Given the description of an element on the screen output the (x, y) to click on. 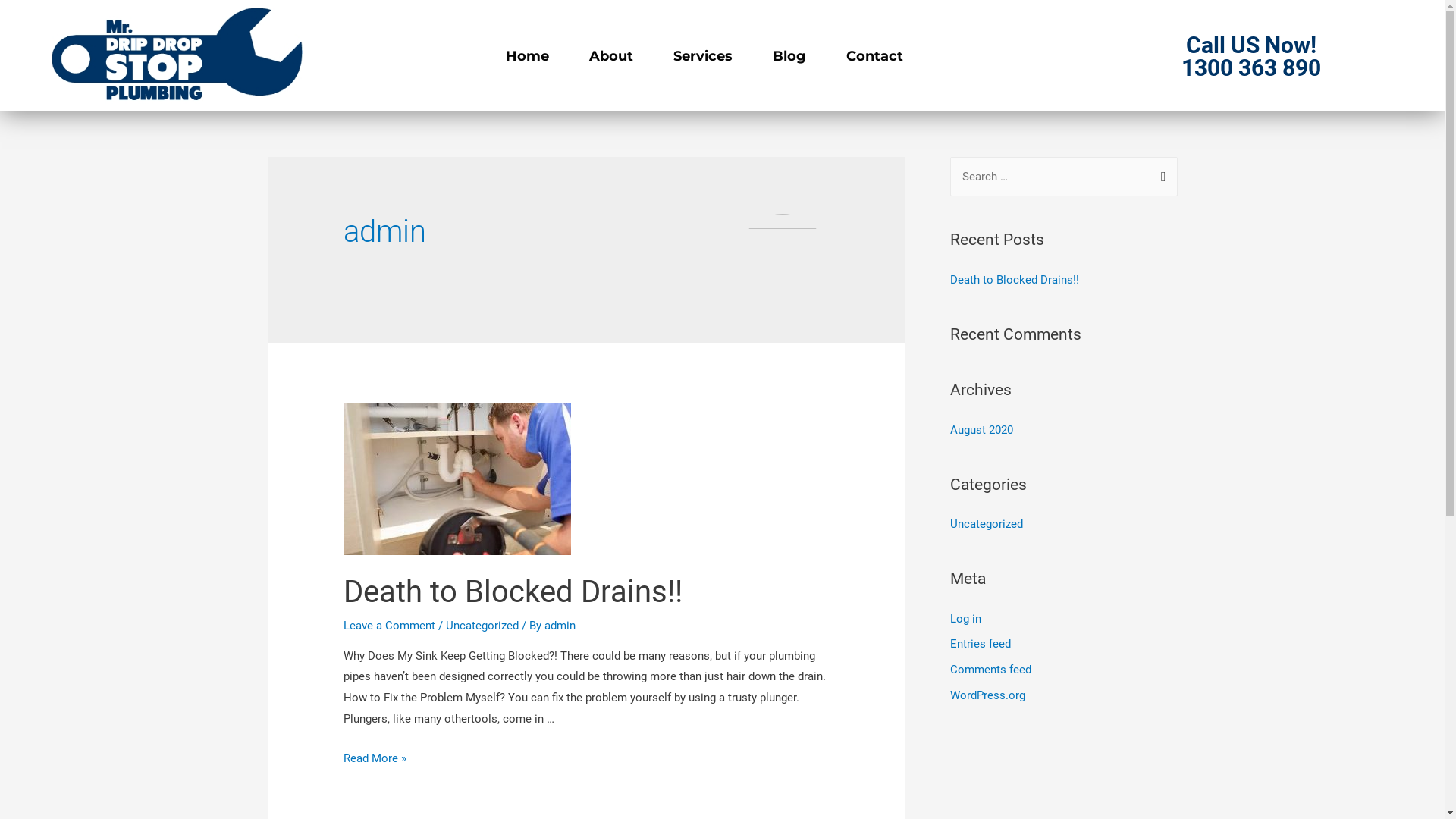
Leave a Comment Element type: text (389, 625)
1300 363 890 Element type: text (1251, 67)
admin Element type: text (559, 625)
August 2020 Element type: text (980, 429)
Now!
Call US Now! Element type: text (1250, 45)
Uncategorized Element type: text (985, 523)
Uncategorized Element type: text (481, 625)
Entries feed Element type: text (979, 643)
Death to Blocked Drains!! Element type: text (512, 591)
Search Element type: text (1160, 172)
Log in Element type: text (964, 618)
About Element type: text (611, 55)
Comments feed Element type: text (989, 669)
Blog Element type: text (789, 55)
Home Element type: text (527, 55)
Services Element type: text (702, 55)
WordPress.org Element type: text (986, 695)
Contact Element type: text (874, 55)
Death to Blocked Drains!! Element type: text (1013, 279)
